Given the description of an element on the screen output the (x, y) to click on. 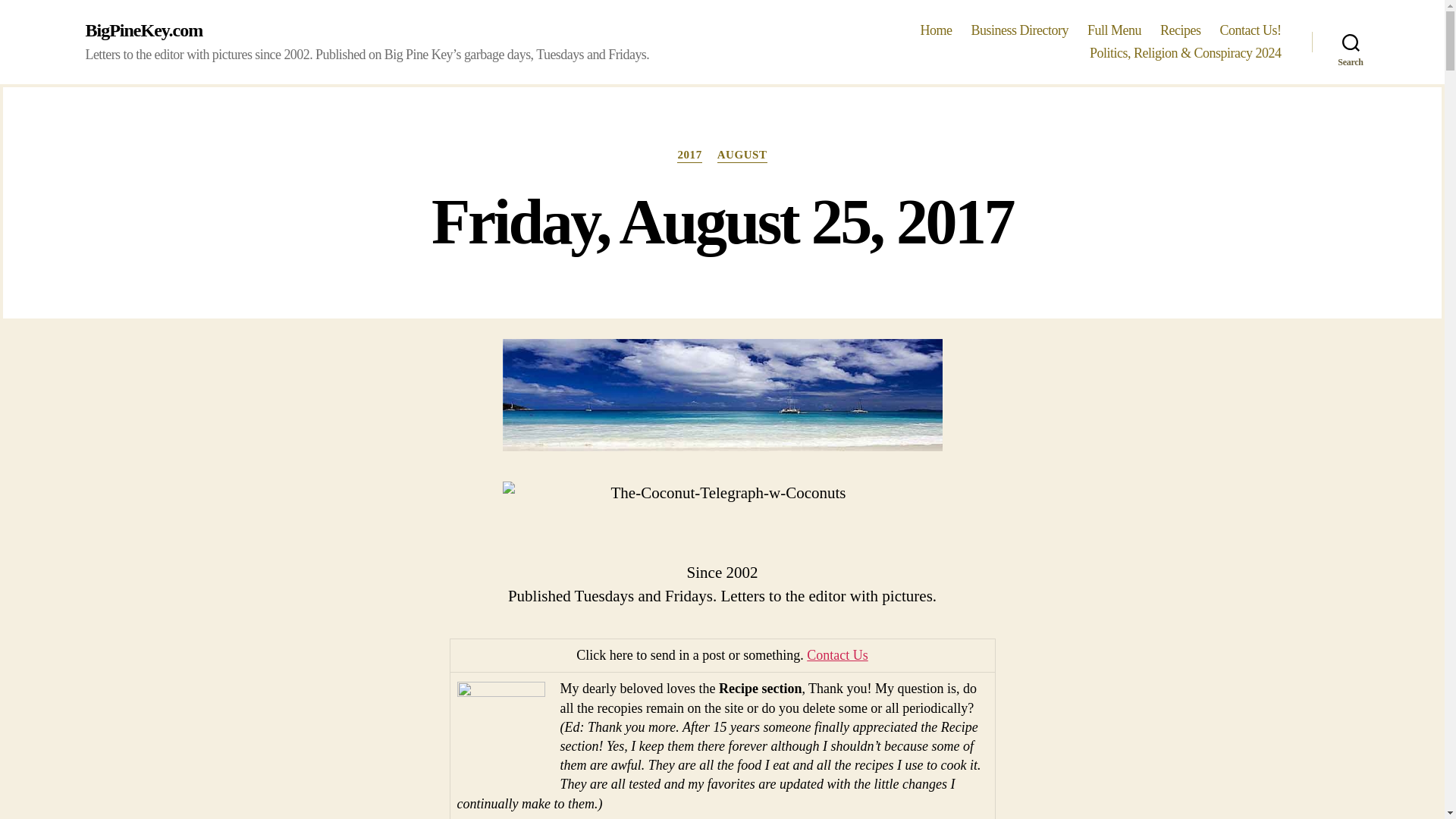
Business Directory (1019, 30)
Full Menu (1114, 30)
Search (1350, 41)
Contact Us! (1250, 30)
Recipes (1180, 30)
BigPineKey.com (143, 30)
Home (936, 30)
2017 (689, 155)
AUGUST (742, 155)
Contact Us (836, 654)
